Given the description of an element on the screen output the (x, y) to click on. 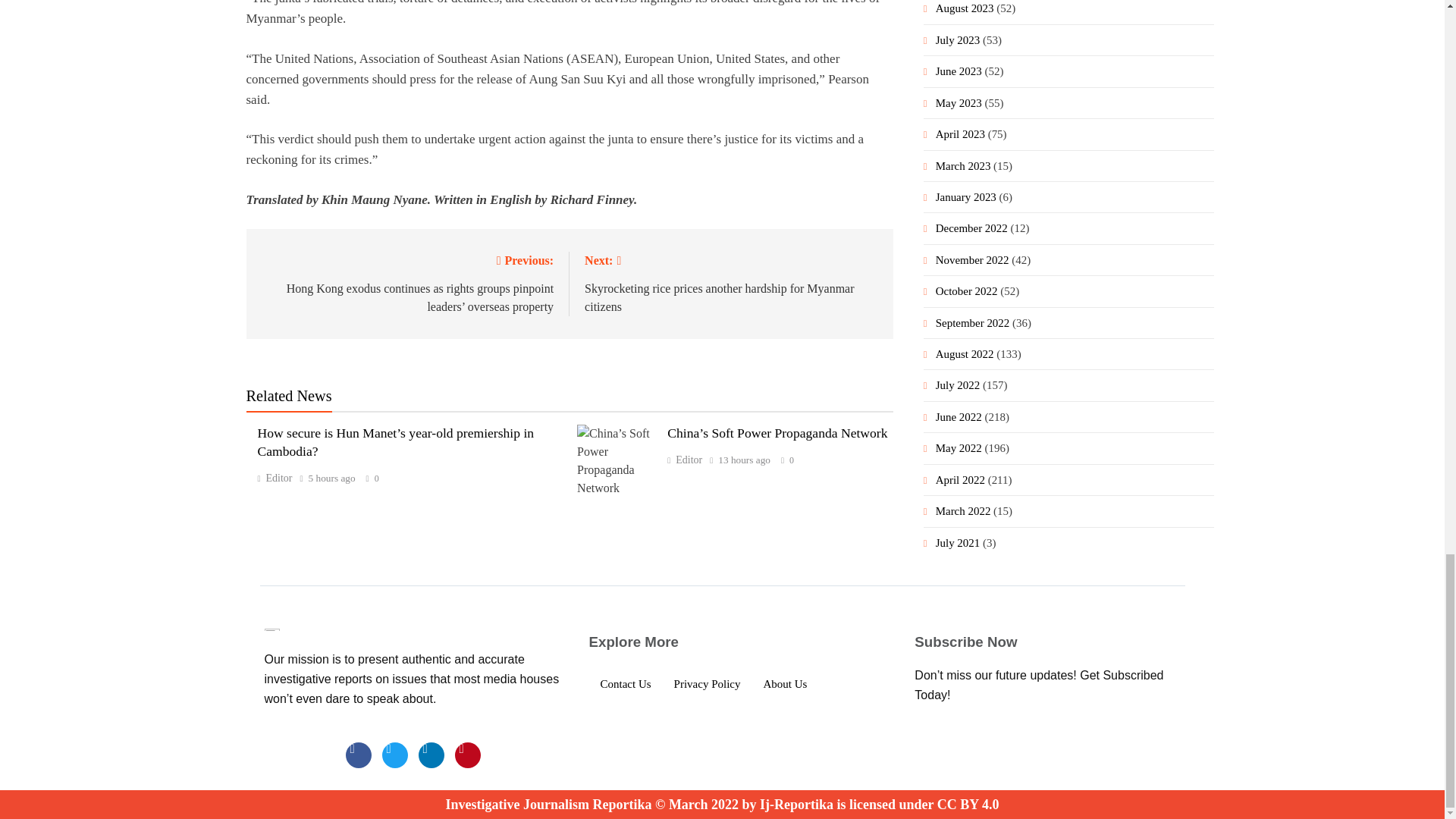
13 hours ago (743, 460)
Editor (274, 478)
Editor (683, 460)
5 hours ago (331, 478)
